Given the description of an element on the screen output the (x, y) to click on. 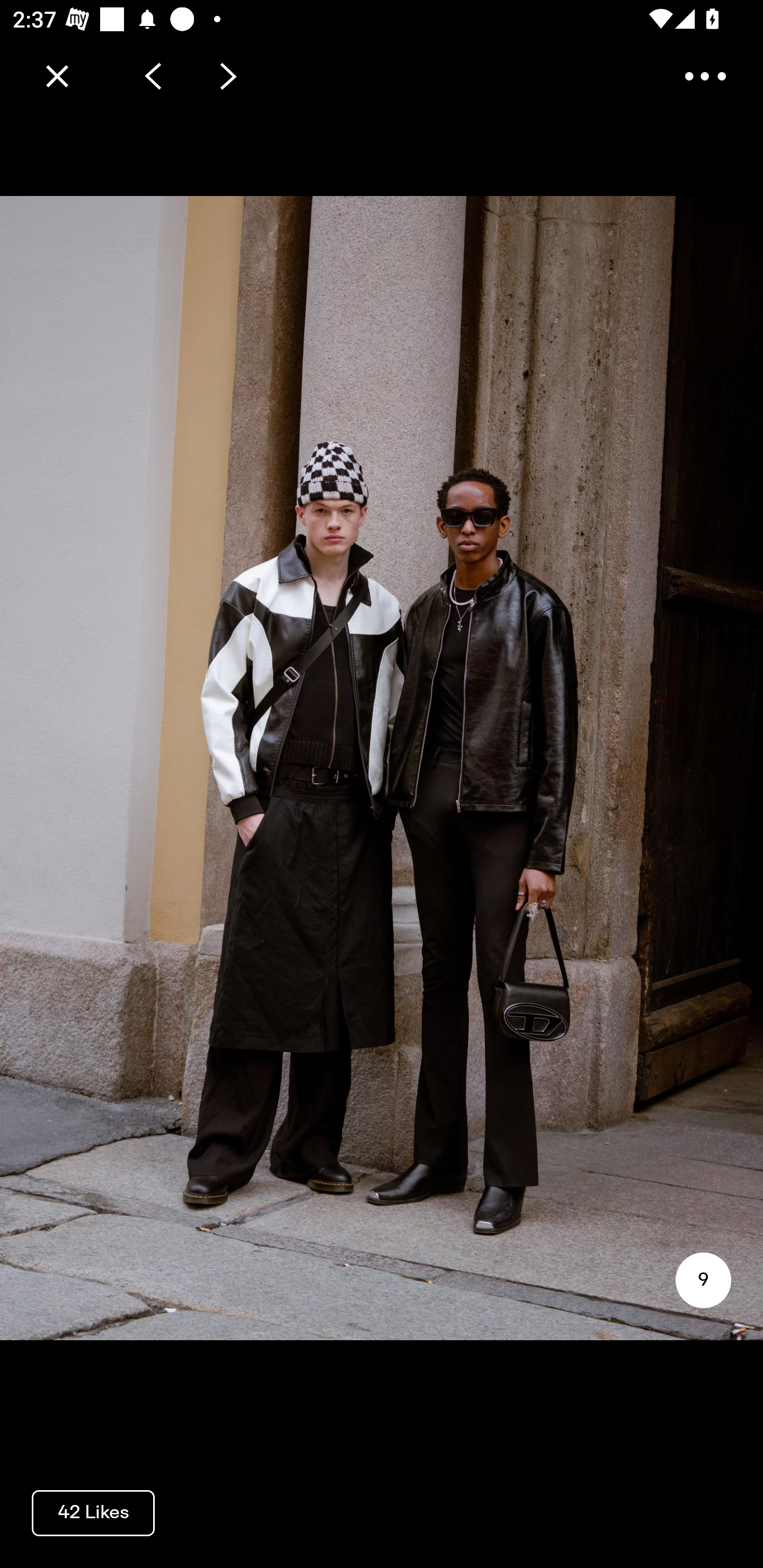
9 (702, 1279)
42 Likes (93, 1512)
